Given the description of an element on the screen output the (x, y) to click on. 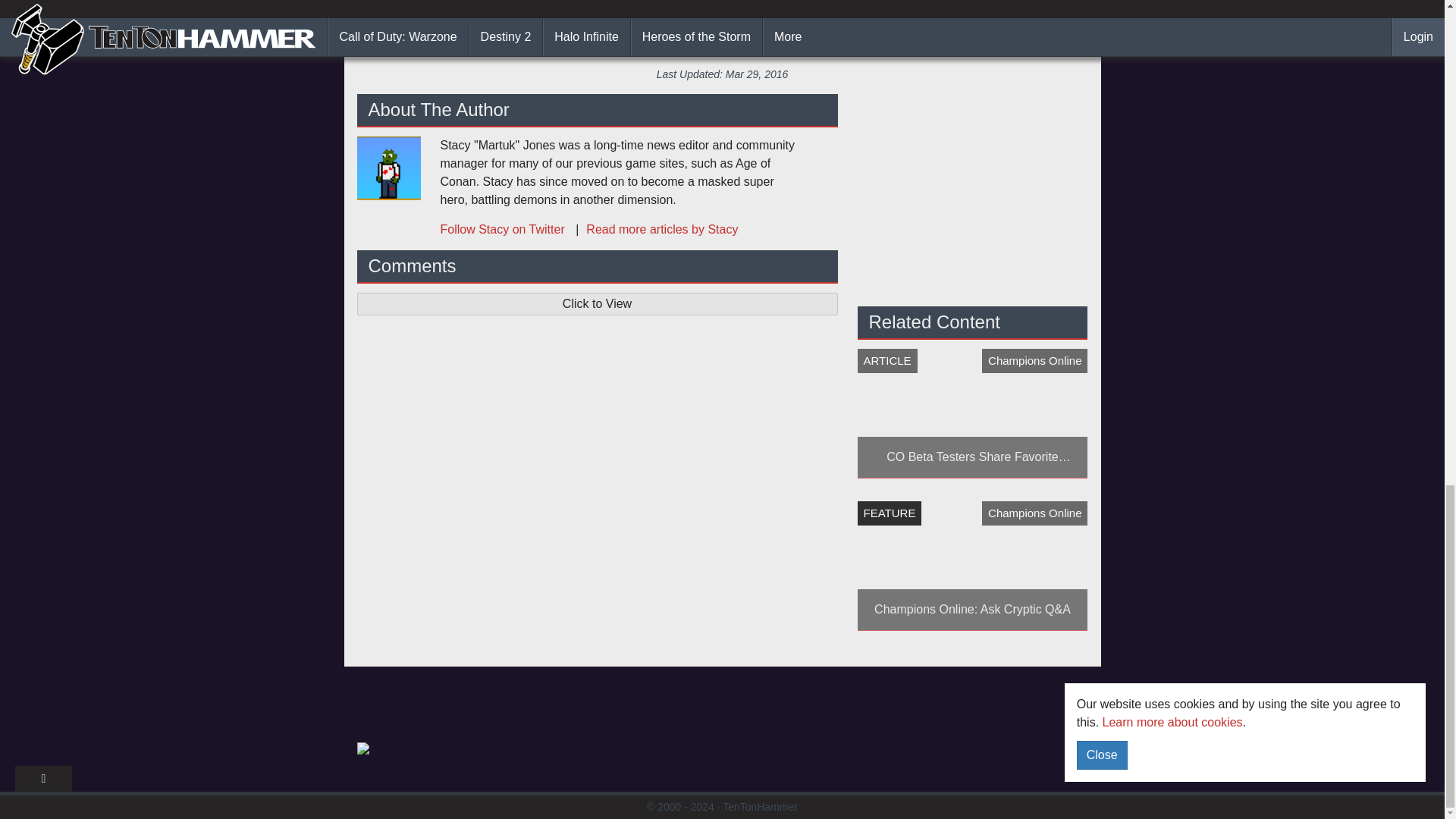
CO Beta Testers Share Favorite Powers (972, 413)
Champions Online (771, 3)
Share on Twitter (908, 32)
Share on Facebook (545, 32)
Share on Reddit (793, 32)
Click to View (596, 303)
Follow Stacy on Twitter (503, 228)
Read more articles by Stacy (652, 228)
